Given the description of an element on the screen output the (x, y) to click on. 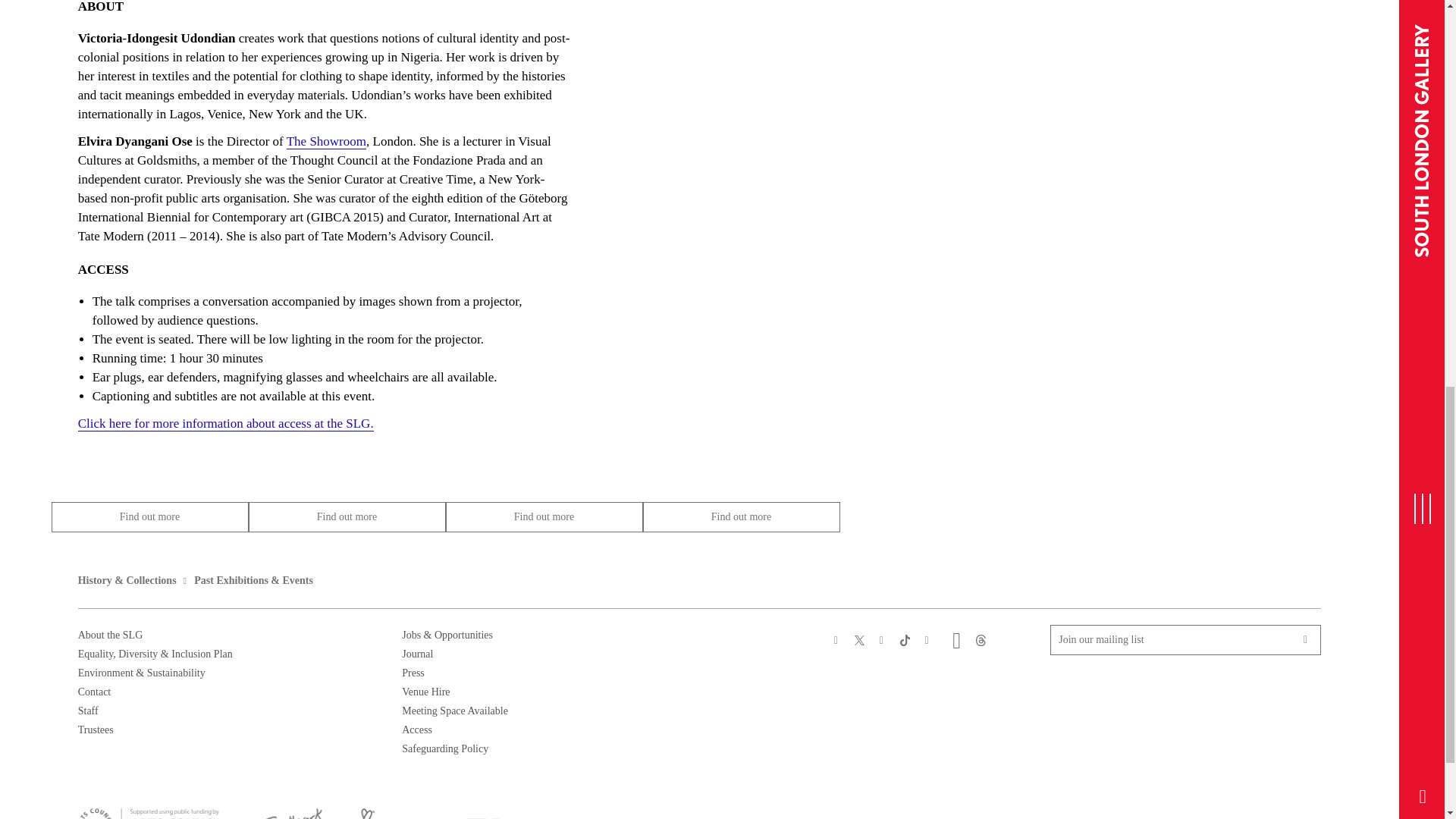
Journal (416, 654)
The Showroom (326, 141)
Meeting Space Available (454, 710)
About the SLG (110, 634)
Facebook (836, 640)
Contact (95, 691)
Instagram (882, 640)
Find out more (544, 517)
Find out more (149, 517)
Venue Hire (425, 691)
Find out more (346, 517)
Access (416, 729)
Find out more (741, 517)
Trustees (95, 729)
YouTube (927, 640)
